Given the description of an element on the screen output the (x, y) to click on. 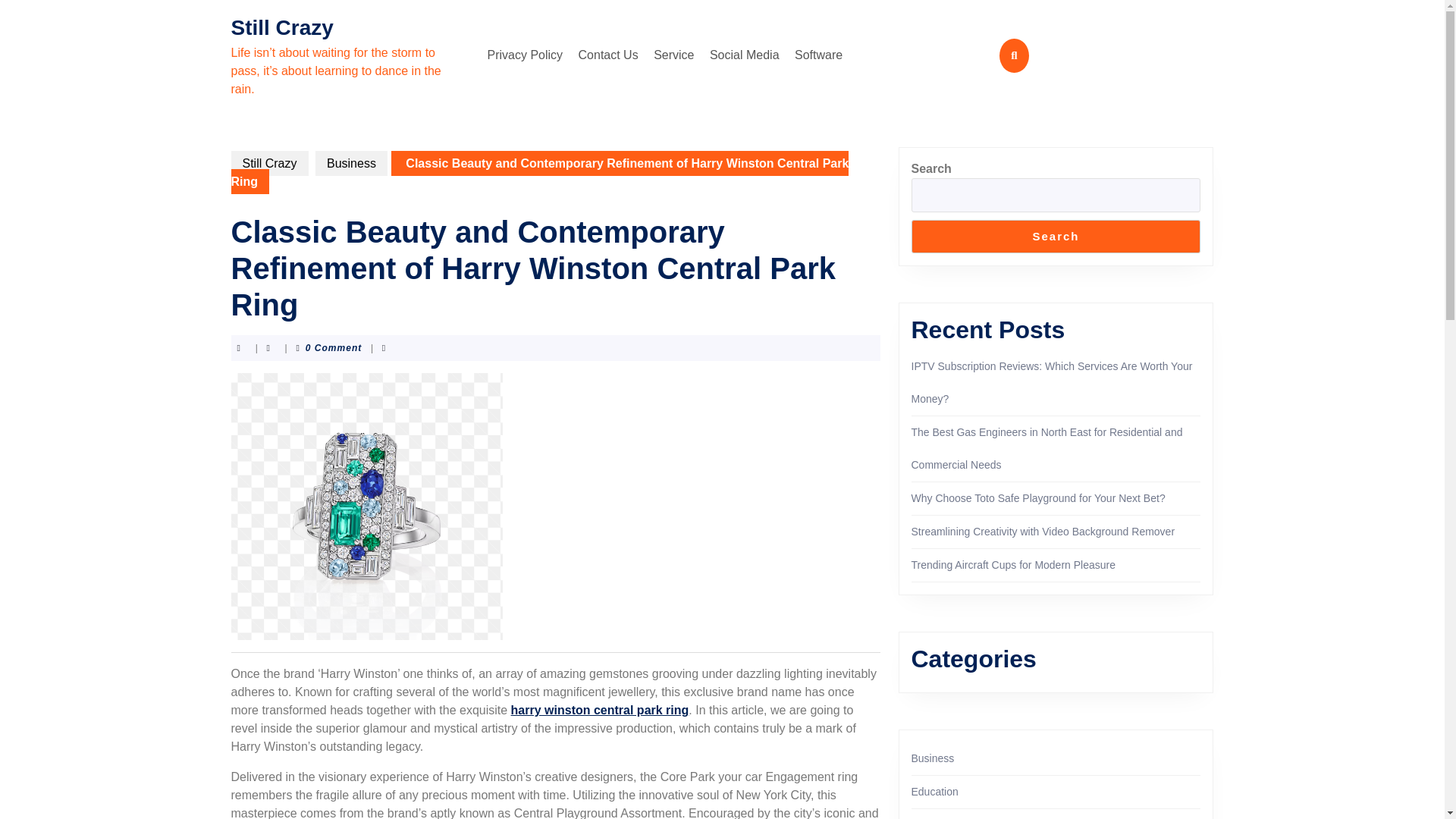
Business (351, 163)
Business (933, 758)
Contact Us (608, 55)
Education (934, 791)
harry winston central park ring (599, 709)
Privacy Policy (524, 55)
Service (673, 55)
Social Media (744, 55)
